Given the description of an element on the screen output the (x, y) to click on. 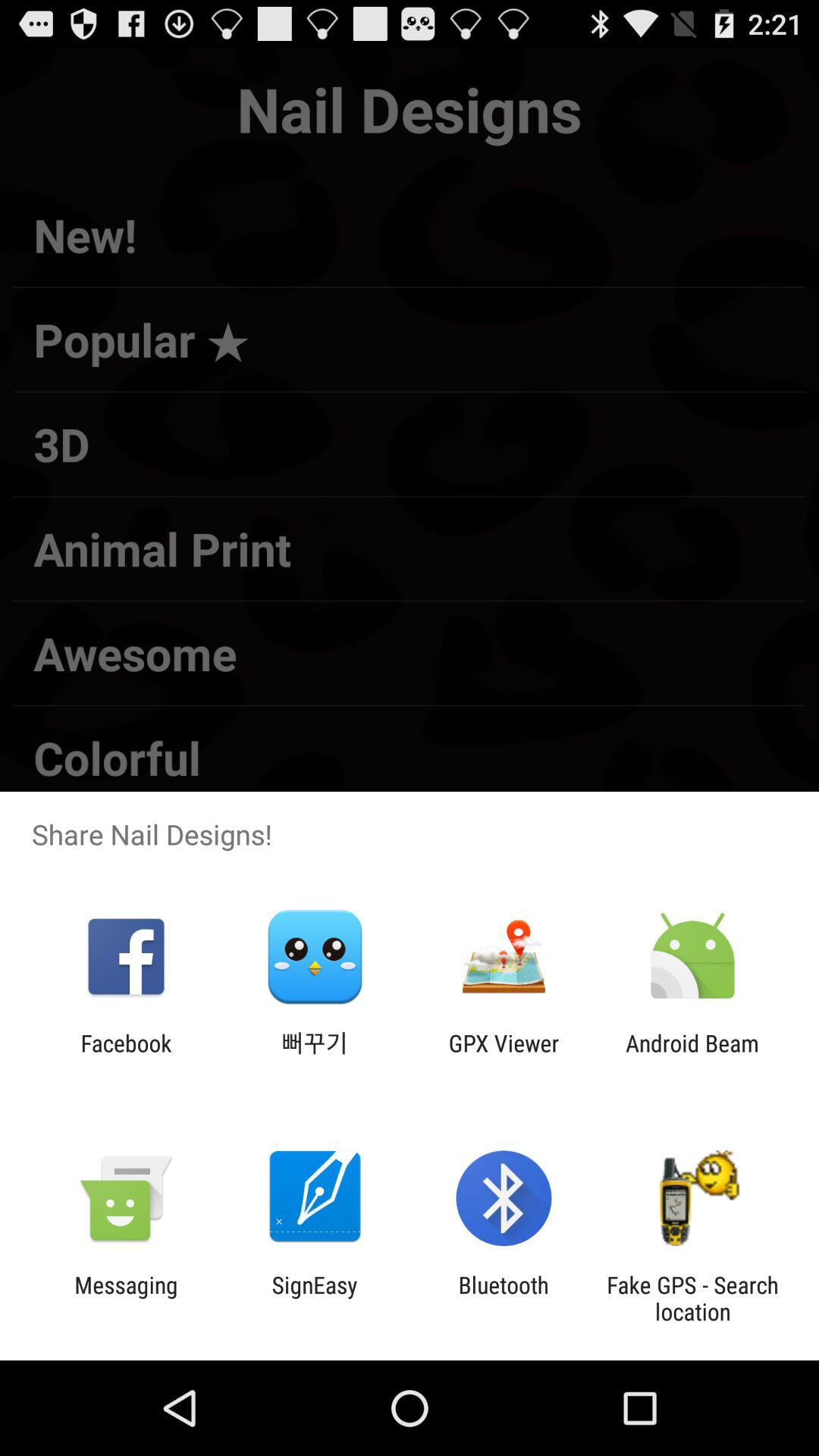
press the icon to the left of the signeasy (126, 1298)
